Given the description of an element on the screen output the (x, y) to click on. 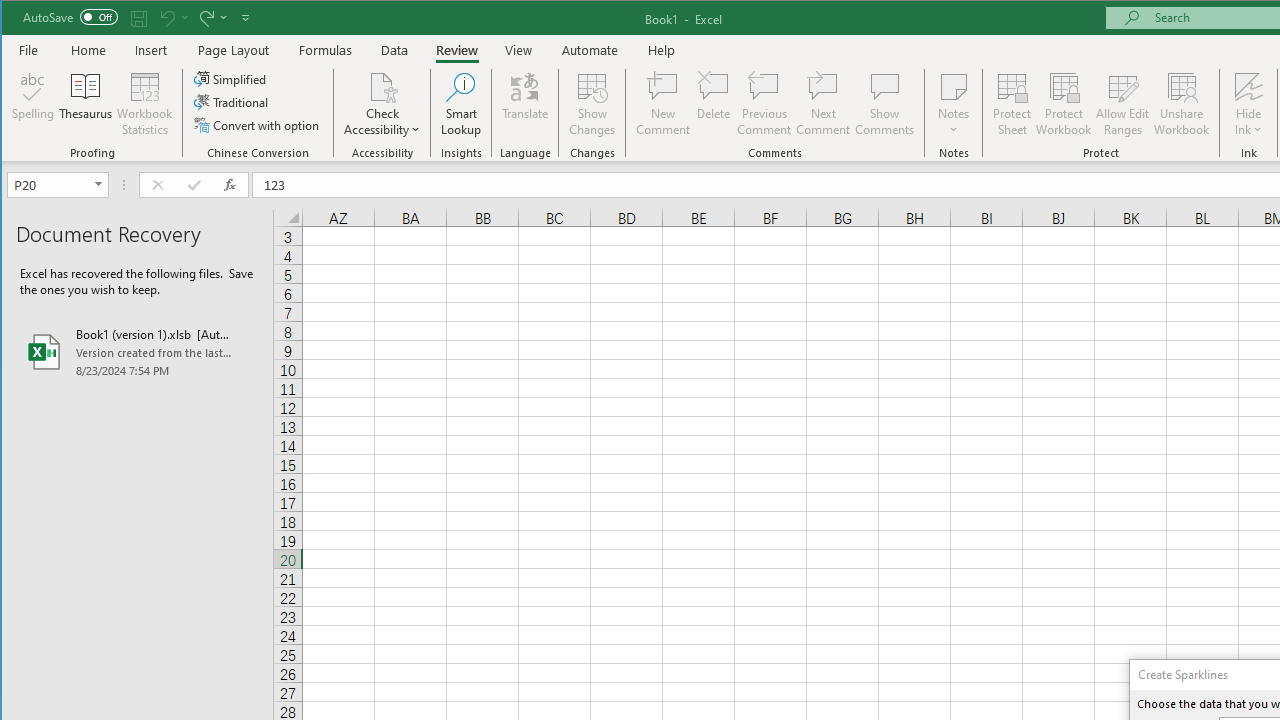
Show Changes (592, 104)
Workbook Statistics (145, 104)
Unshare Workbook (1182, 104)
New Comment (662, 104)
Spelling... (33, 104)
Previous Comment (763, 104)
Notes (954, 104)
Convert with option (258, 124)
Translate (525, 104)
Next Comment (822, 104)
